Given the description of an element on the screen output the (x, y) to click on. 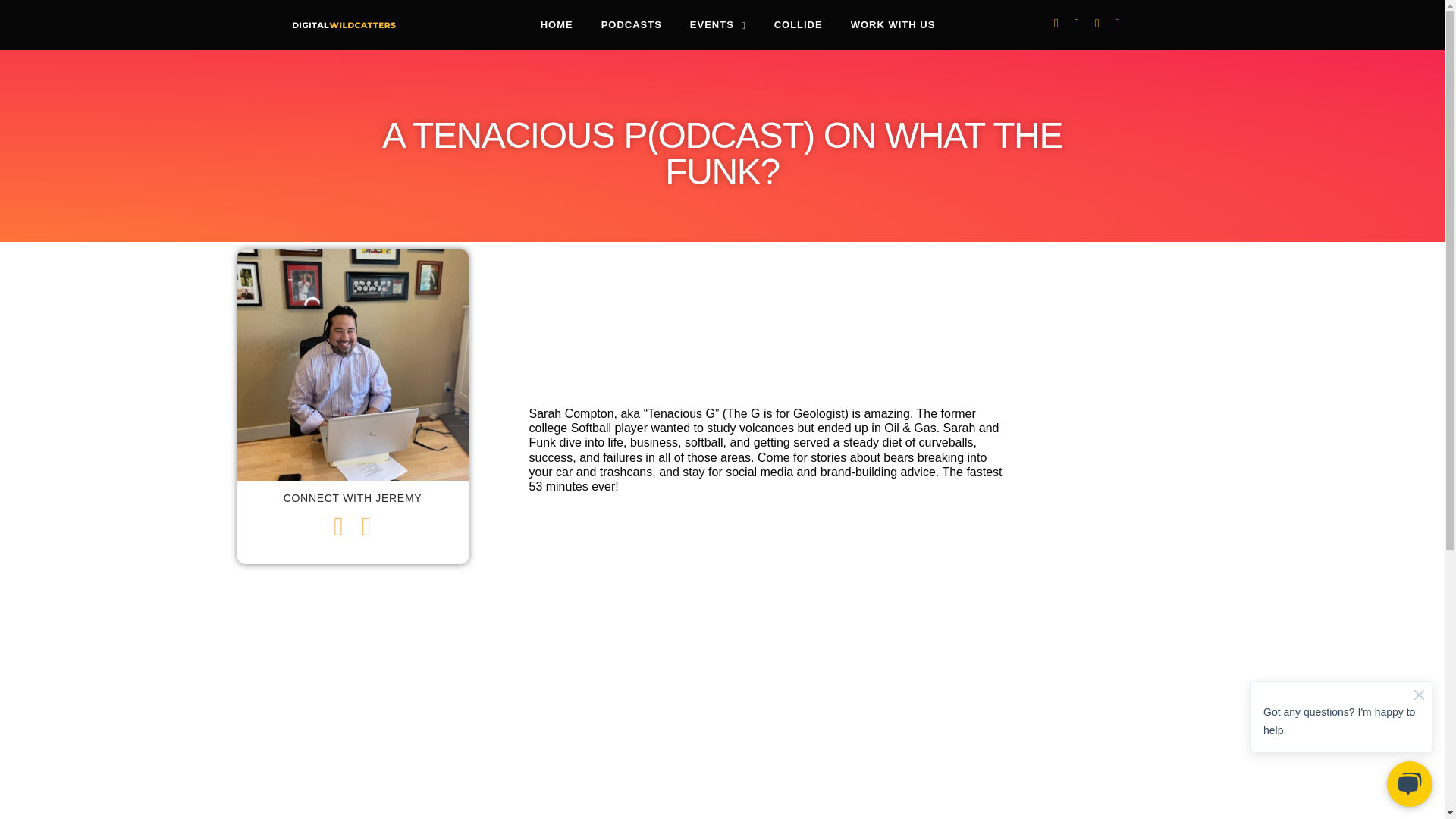
HOME (556, 24)
COLLIDE (798, 24)
WORK WITH US (892, 24)
EVENTS (718, 24)
PODCASTS (631, 24)
